Given the description of an element on the screen output the (x, y) to click on. 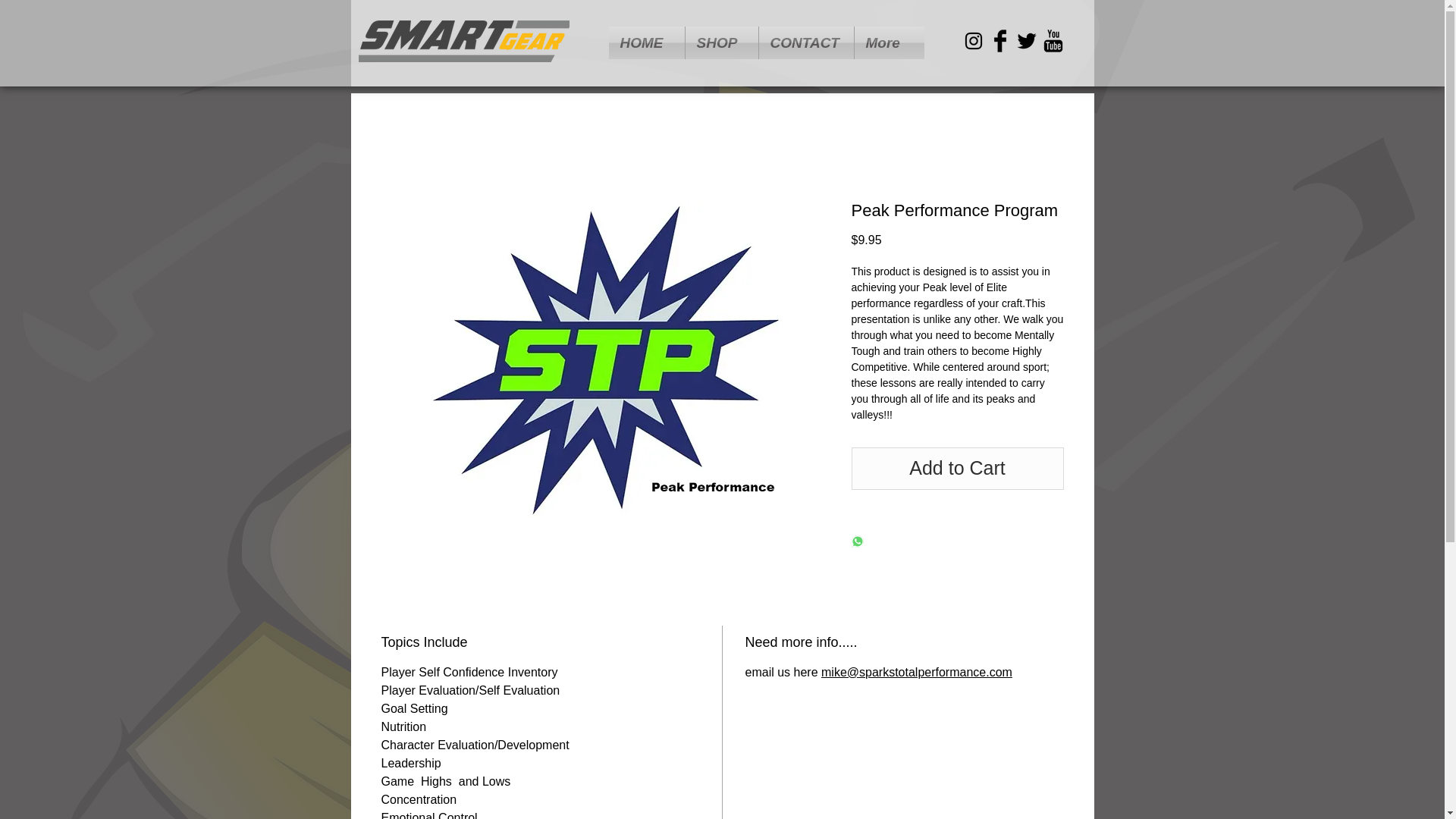
SHOP (721, 42)
HOME (646, 42)
CONTACT (805, 42)
Add to Cart (956, 468)
